Given the description of an element on the screen output the (x, y) to click on. 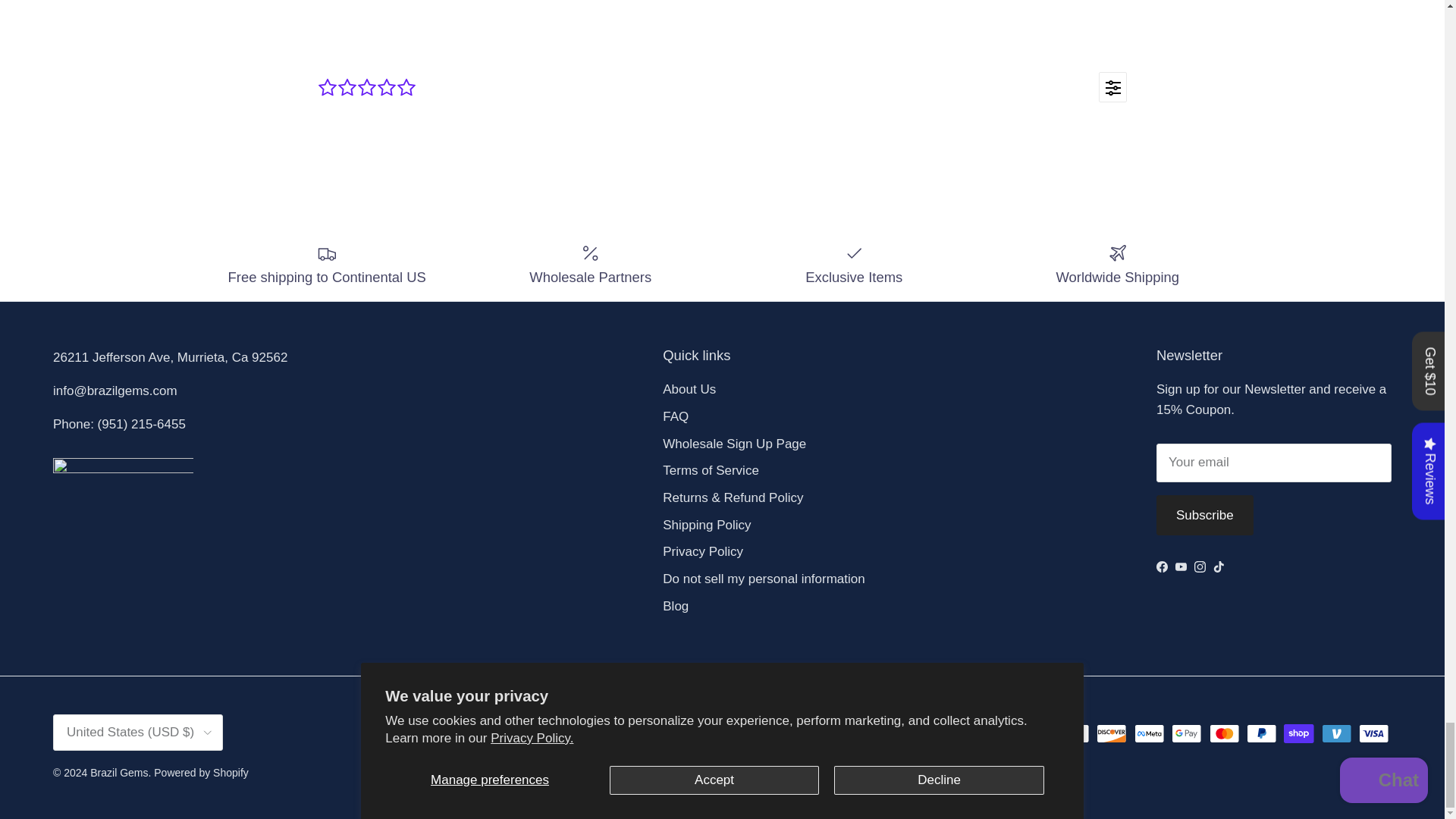
Brazil Gems on TikTok (1218, 566)
Brazil Gems on YouTube (1180, 566)
Product reviews widget (722, 111)
Brazil Gems on Instagram (1199, 566)
Brazil Gems on Facebook (1161, 566)
